Given the description of an element on the screen output the (x, y) to click on. 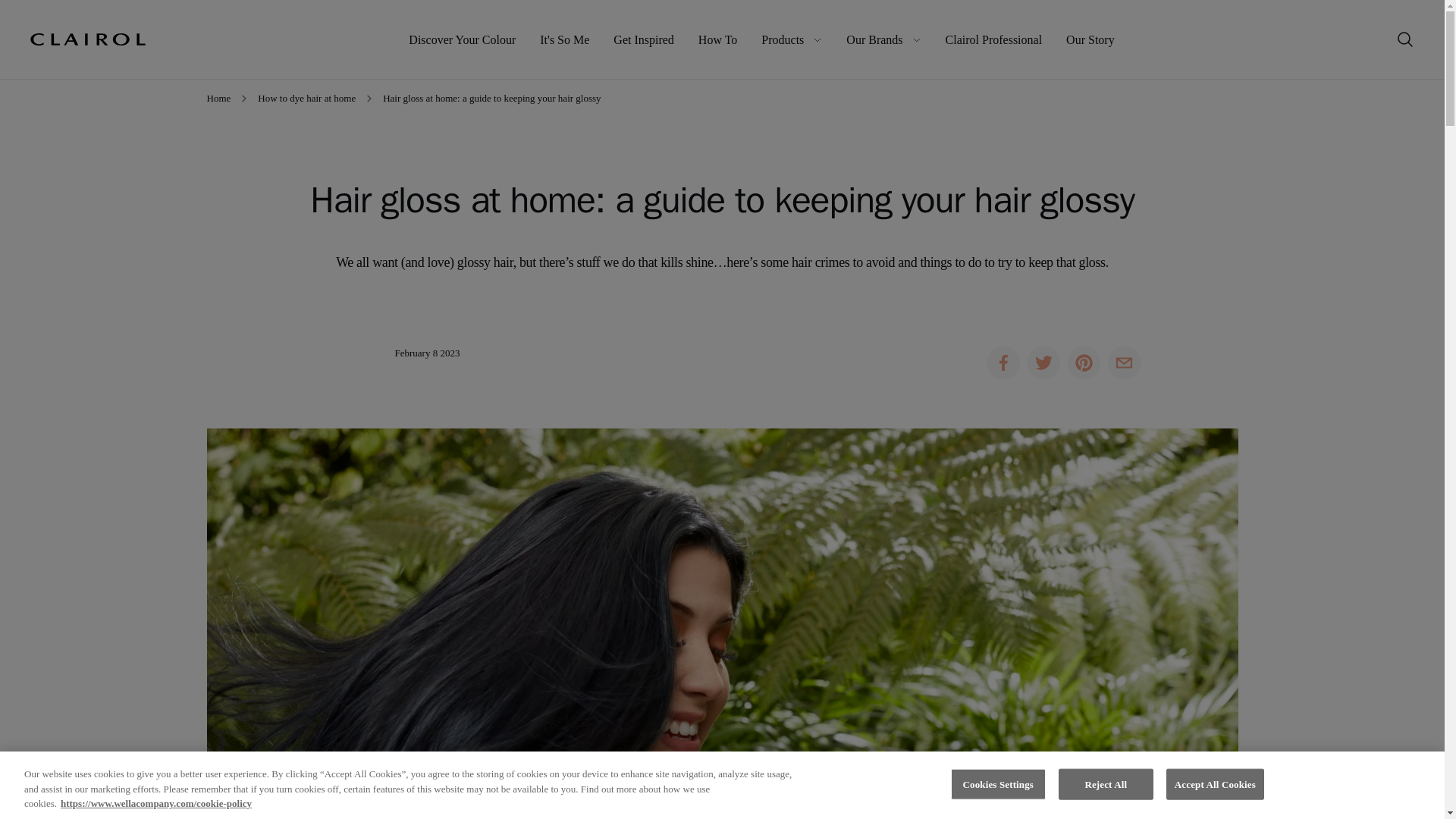
How to dye hair at home (306, 98)
Hair gloss at home: a guide to keeping your hair glossy (490, 98)
Our Brands (882, 39)
Home (218, 98)
Products (791, 39)
Our Story (1090, 40)
Clairol Professional (993, 40)
Search (1405, 39)
Discover Your Colour (462, 40)
Home (87, 39)
It's So Me (564, 40)
Get Inspired (643, 40)
How To (717, 40)
